Given the description of an element on the screen output the (x, y) to click on. 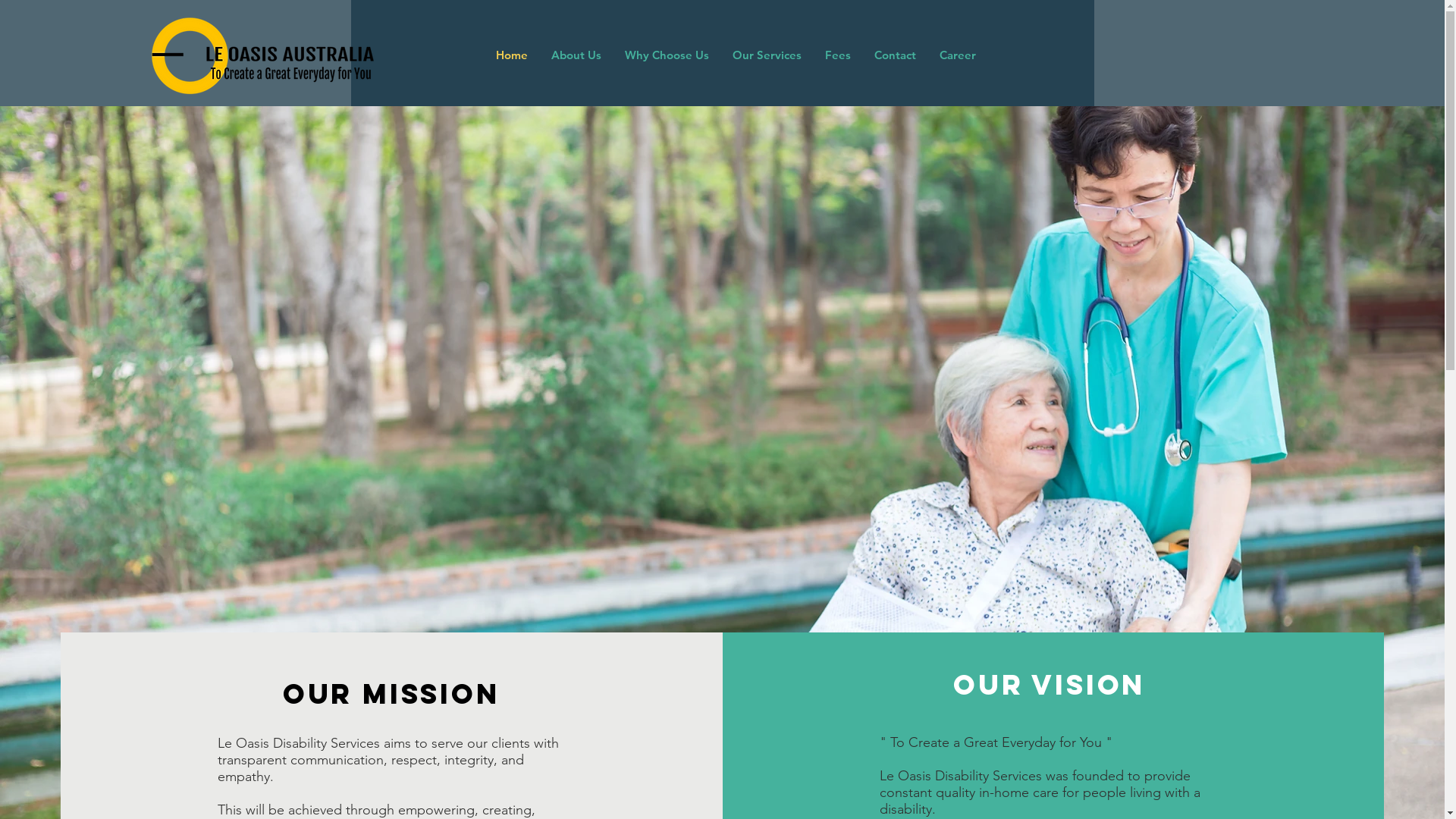
Why Choose Us Element type: text (666, 55)
About Us Element type: text (574, 55)
Contact Element type: text (893, 55)
Fees Element type: text (837, 55)
Home Element type: text (511, 55)
Career Element type: text (956, 55)
Our Services Element type: text (766, 55)
